Given the description of an element on the screen output the (x, y) to click on. 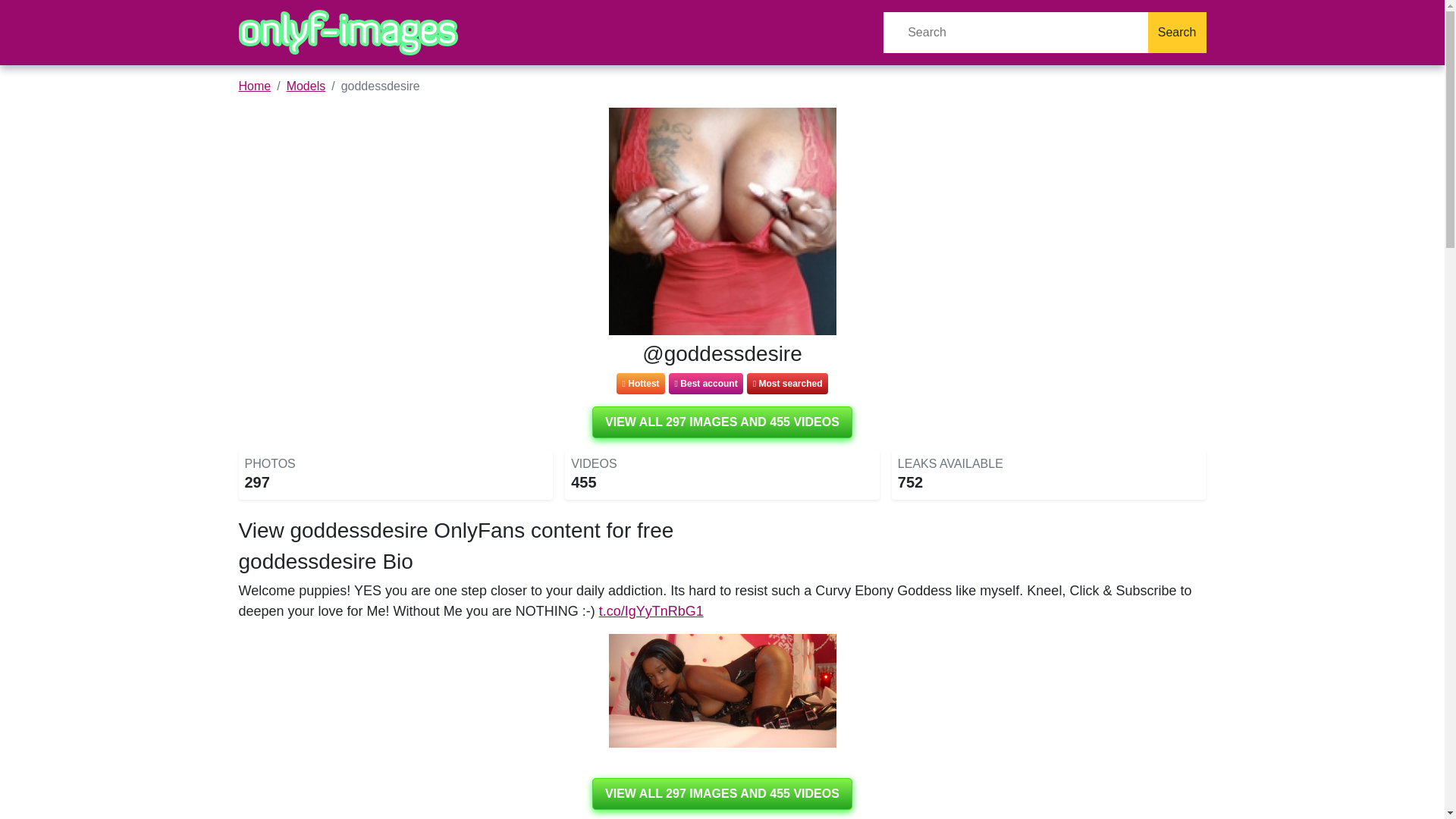
Home (254, 85)
VIEW ALL 297 IMAGES AND 455 VIDEOS (721, 793)
Models (306, 85)
Search (1177, 32)
VIEW ALL 297 IMAGES AND 455 VIDEOS (721, 422)
